Given the description of an element on the screen output the (x, y) to click on. 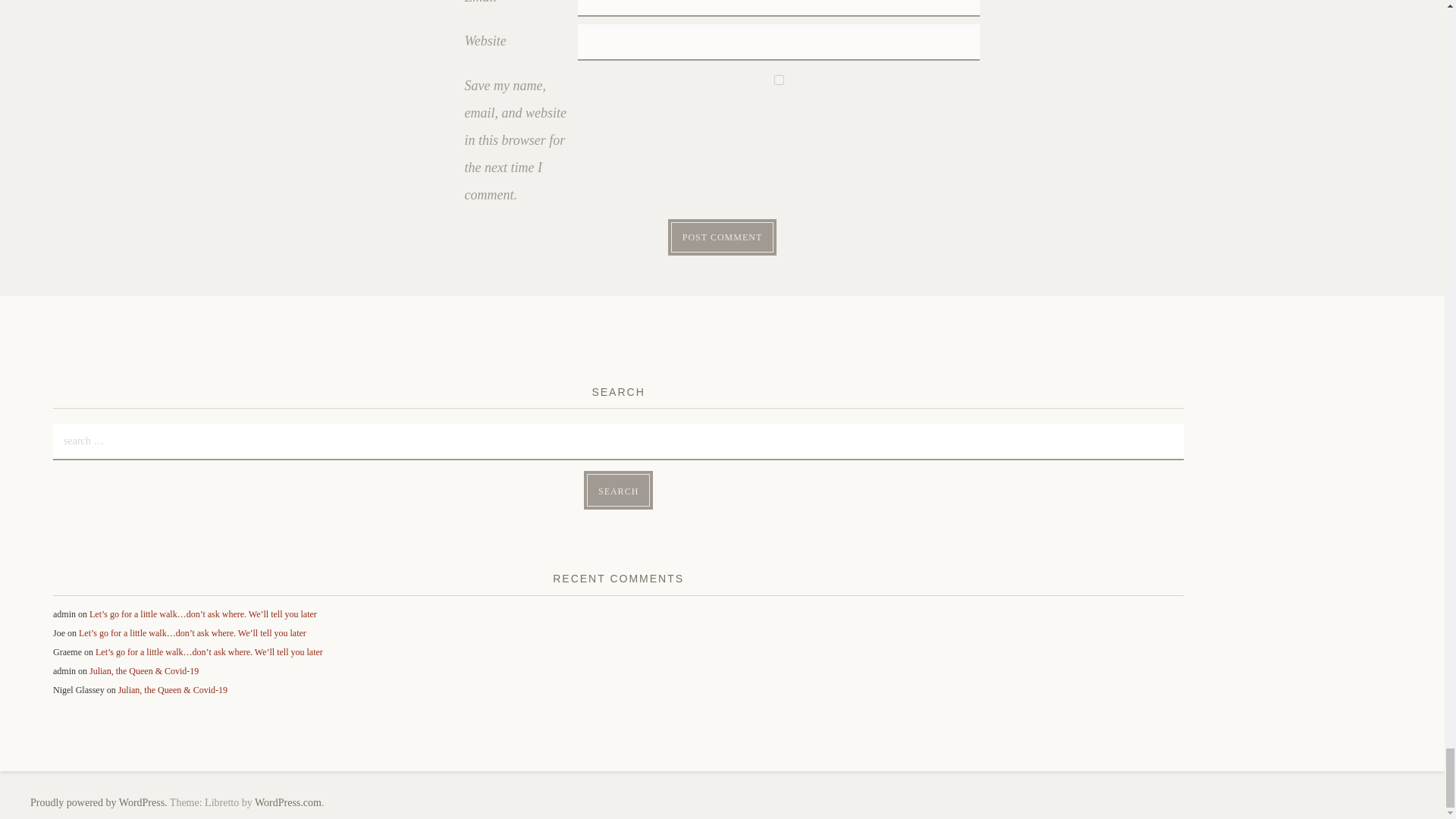
Search (617, 490)
Post Comment (722, 236)
yes (779, 80)
Search (617, 490)
